Given the description of an element on the screen output the (x, y) to click on. 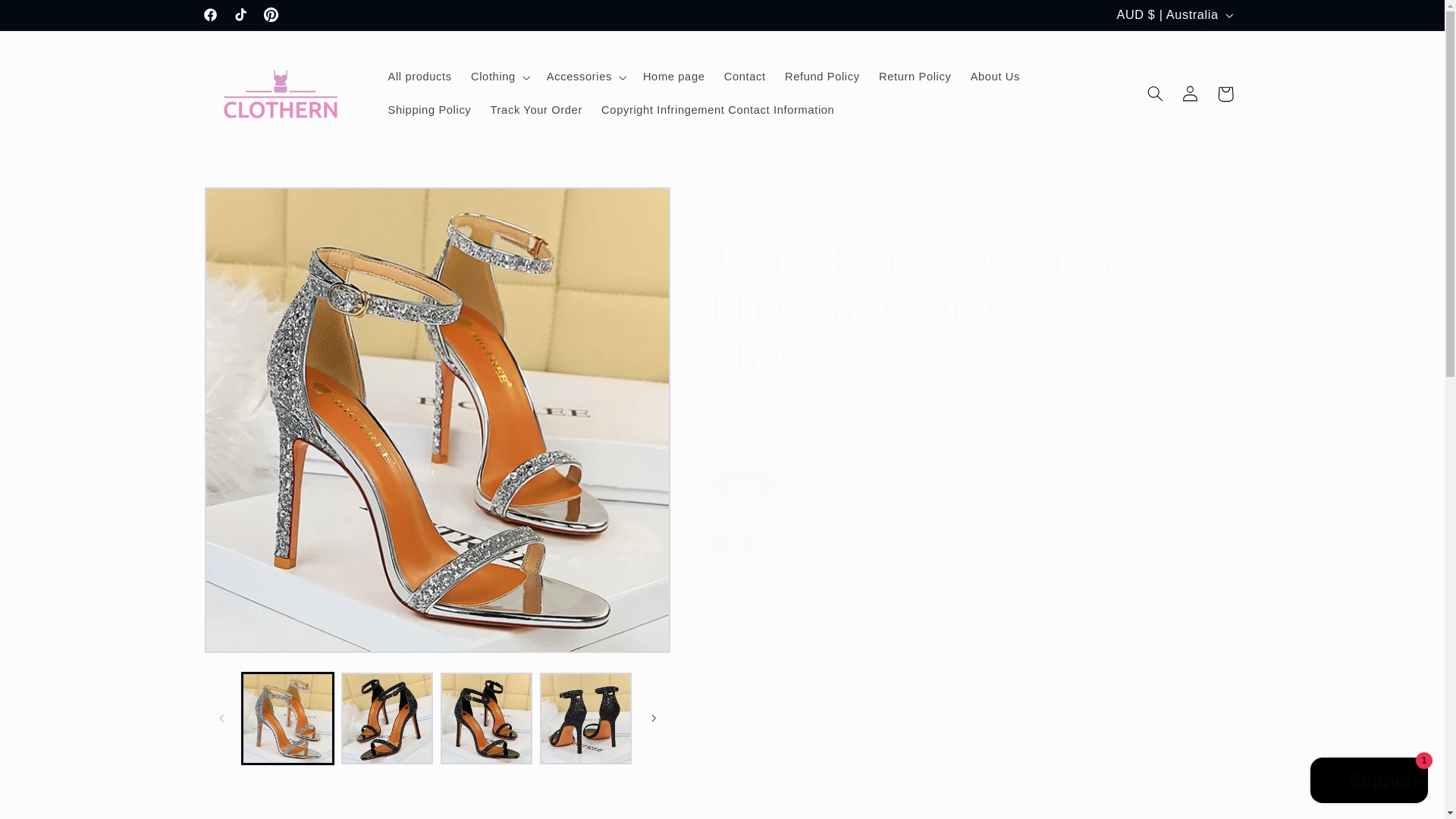
Pinterest (270, 15)
Shopify online store chat (1369, 781)
Skip to content (48, 18)
Facebook (210, 15)
TikTok (240, 15)
1 (764, 610)
